Given the description of an element on the screen output the (x, y) to click on. 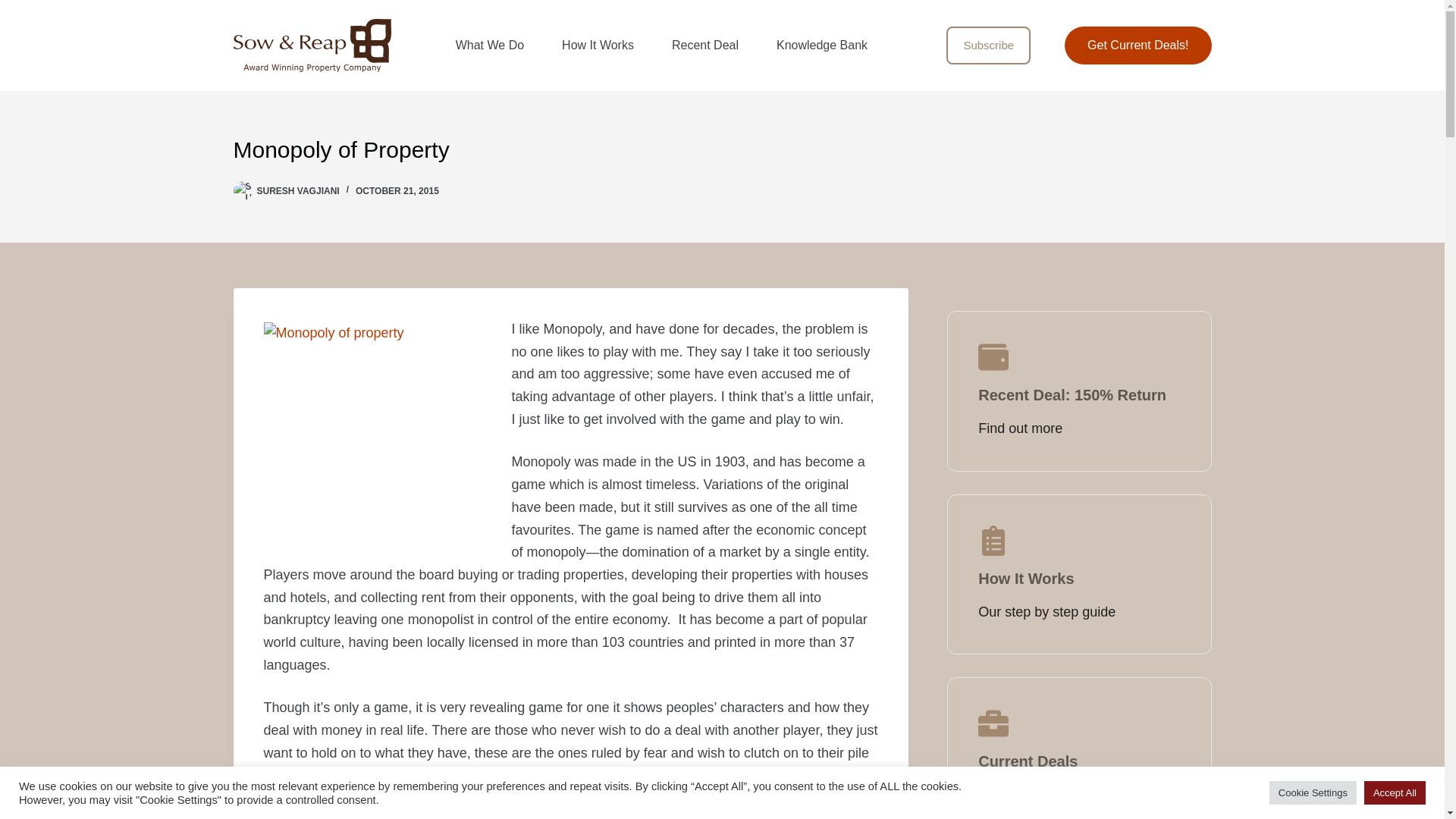
How It Works (597, 45)
Recent Deal (704, 45)
SURESH VAGJIANI (297, 190)
What We Do (489, 45)
Get Current Deals! (1137, 45)
Subscribe (988, 45)
Skip to content (15, 7)
Knowledge Bank (821, 45)
Posts by Suresh Vagjiani (297, 190)
Monopoly of Property (721, 149)
